Given the description of an element on the screen output the (x, y) to click on. 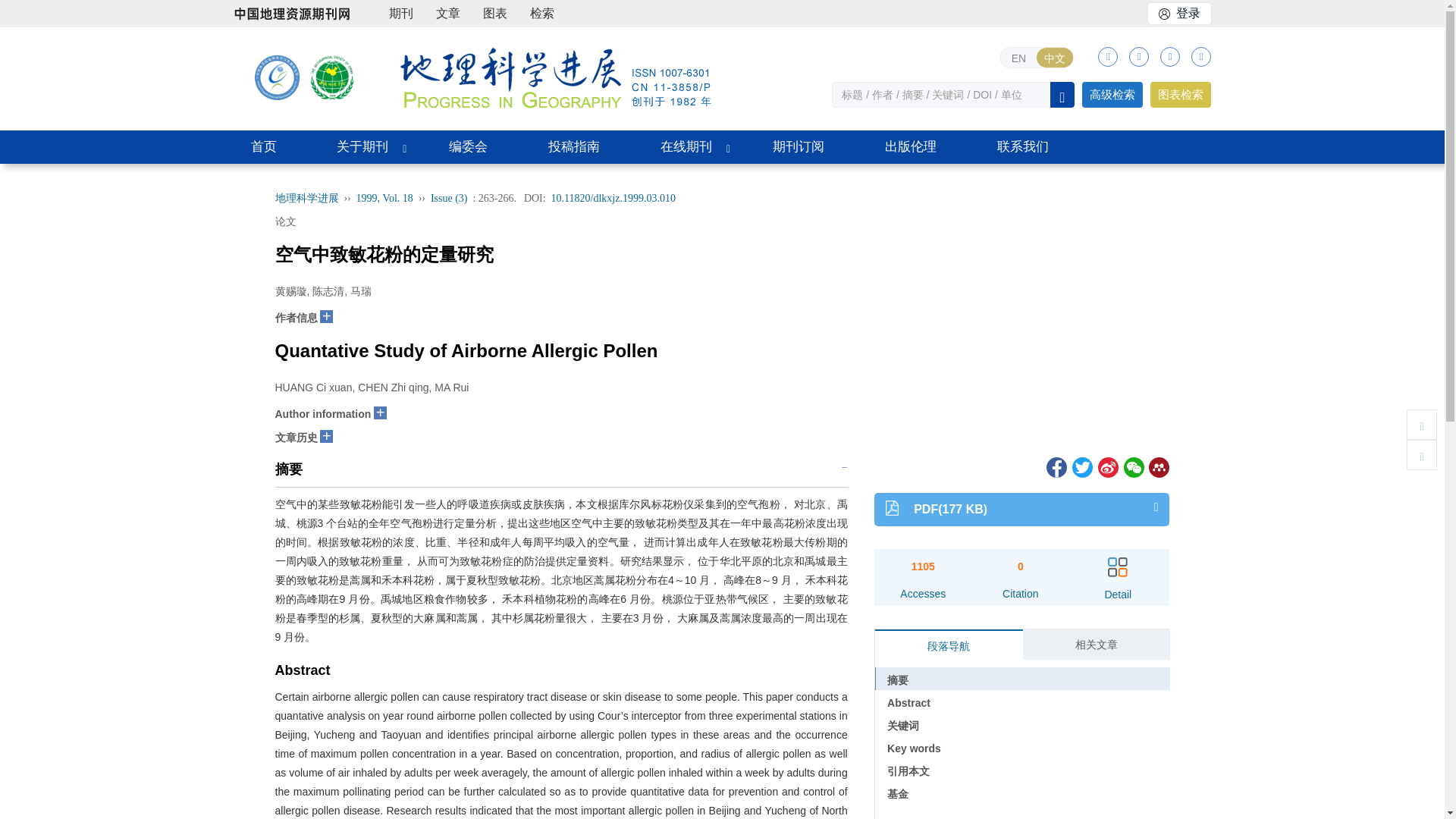
Abstract (1022, 701)
Share on Facebook (1055, 466)
EN (1018, 57)
Share on Mendeley (1158, 466)
Share on Twitter (1081, 466)
Share on Weibo (1107, 466)
Key words (1022, 746)
Share on WeChat (1132, 466)
